Given the description of an element on the screen output the (x, y) to click on. 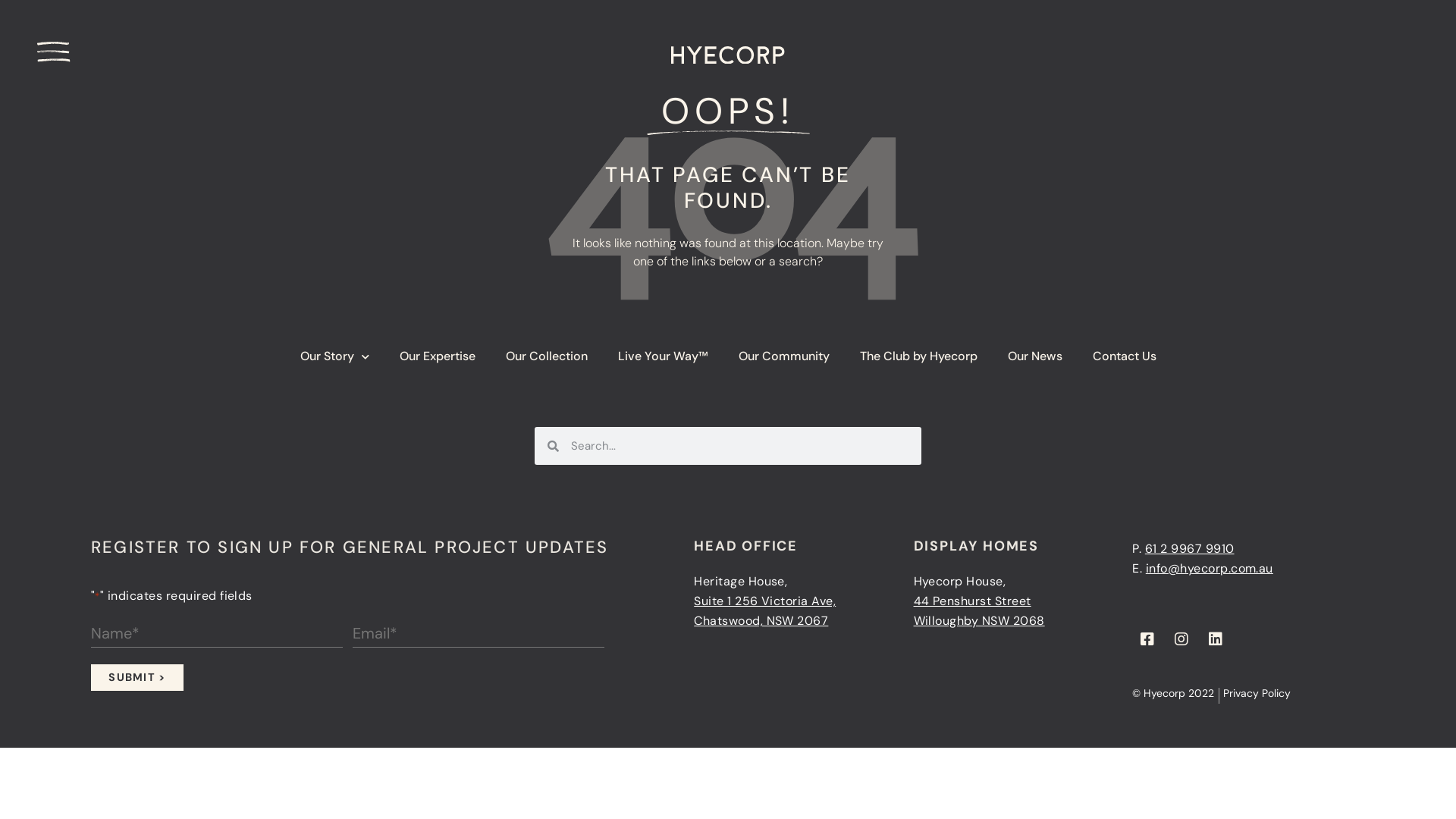
Our Story Element type: text (334, 355)
Privacy Policy Element type: text (1256, 695)
Our Collection Element type: text (545, 355)
61 2 9967 9910 Element type: text (1189, 548)
Our Community Element type: text (783, 355)
The Club by Hyecorp Element type: text (918, 355)
Chatswood, NSW 2067 Element type: text (760, 620)
Our Expertise Element type: text (436, 355)
Willoughby NSW 2068 Element type: text (978, 620)
Contact Us Element type: text (1123, 355)
info@hyecorp.com.au Element type: text (1209, 568)
Our News Element type: text (1033, 355)
Suite 1 256 Victoria Ave, Element type: text (764, 600)
Submit > Element type: text (137, 677)
44 Penshurst Street Element type: text (972, 600)
